Given the description of an element on the screen output the (x, y) to click on. 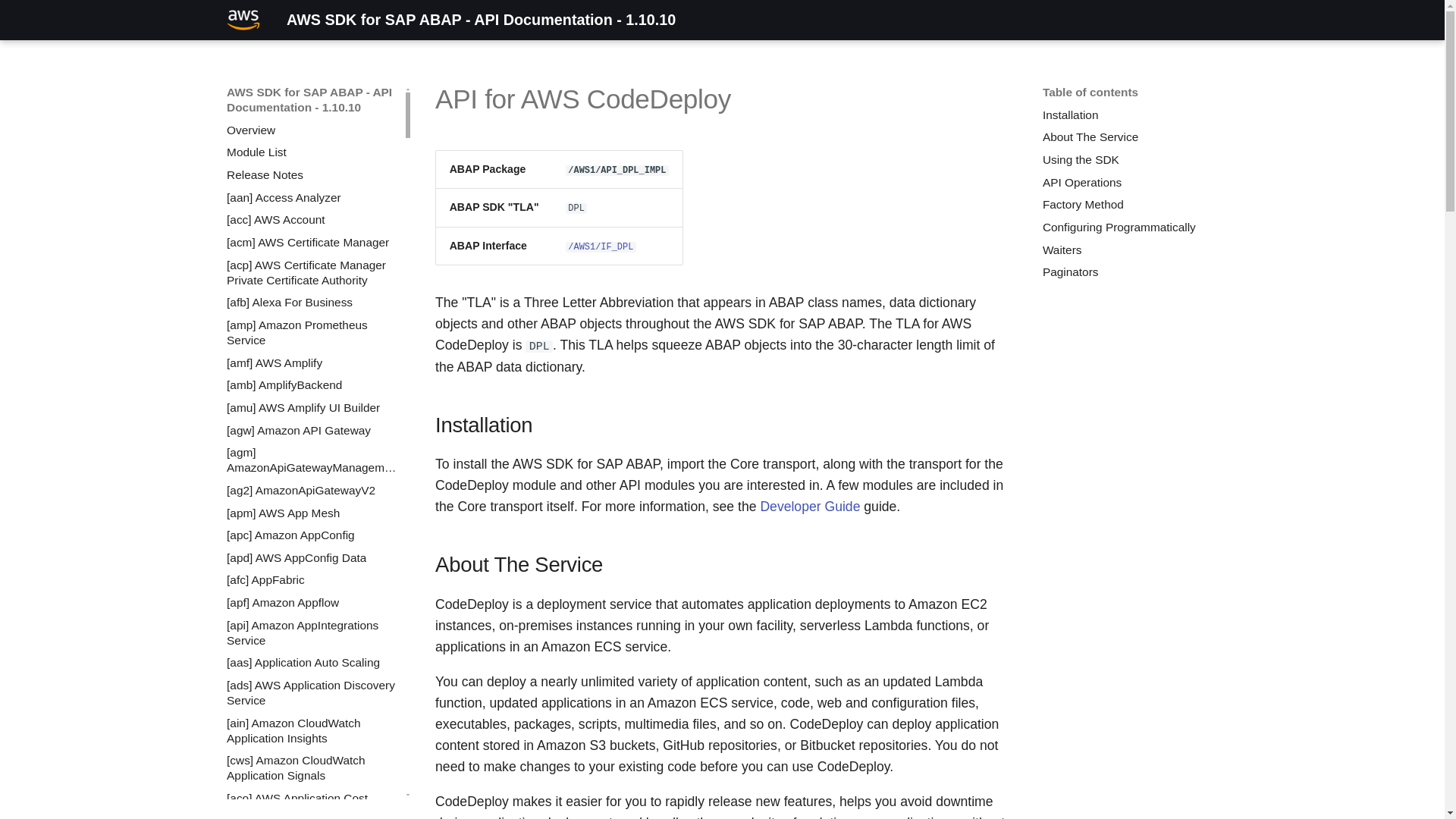
Release Notes (312, 174)
Module List (312, 151)
Overview (312, 130)
AWS SDK for SAP ABAP - API Documentation - 1.10.10 (242, 19)
